Given the description of an element on the screen output the (x, y) to click on. 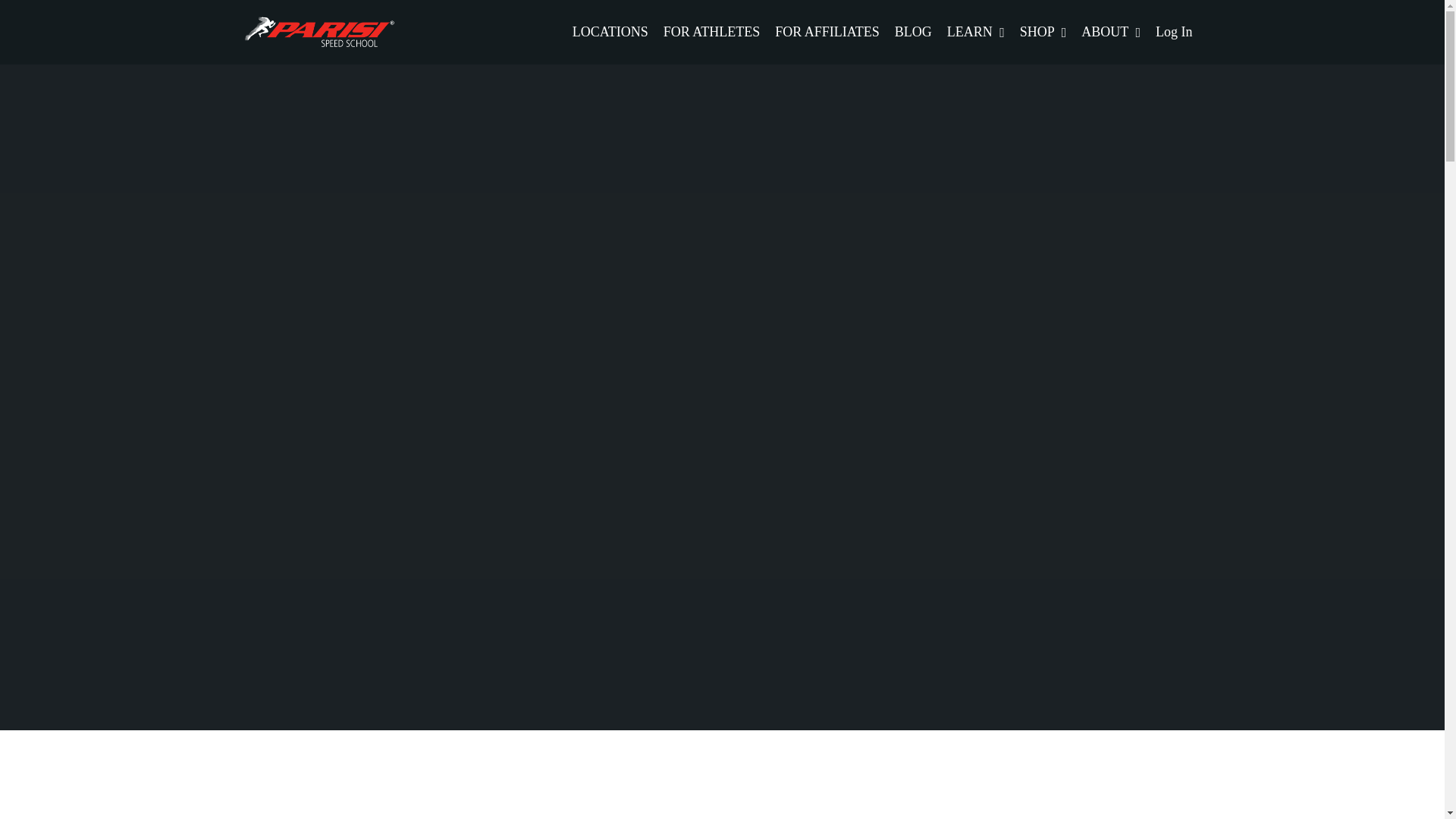
ABOUT (1110, 32)
BLOG (913, 32)
FOR AFFILIATES (826, 32)
SHOP (1042, 32)
LEARN (975, 32)
FOR ATHLETES (711, 32)
Log In (1174, 31)
LOCATIONS (609, 32)
